Given the description of an element on the screen output the (x, y) to click on. 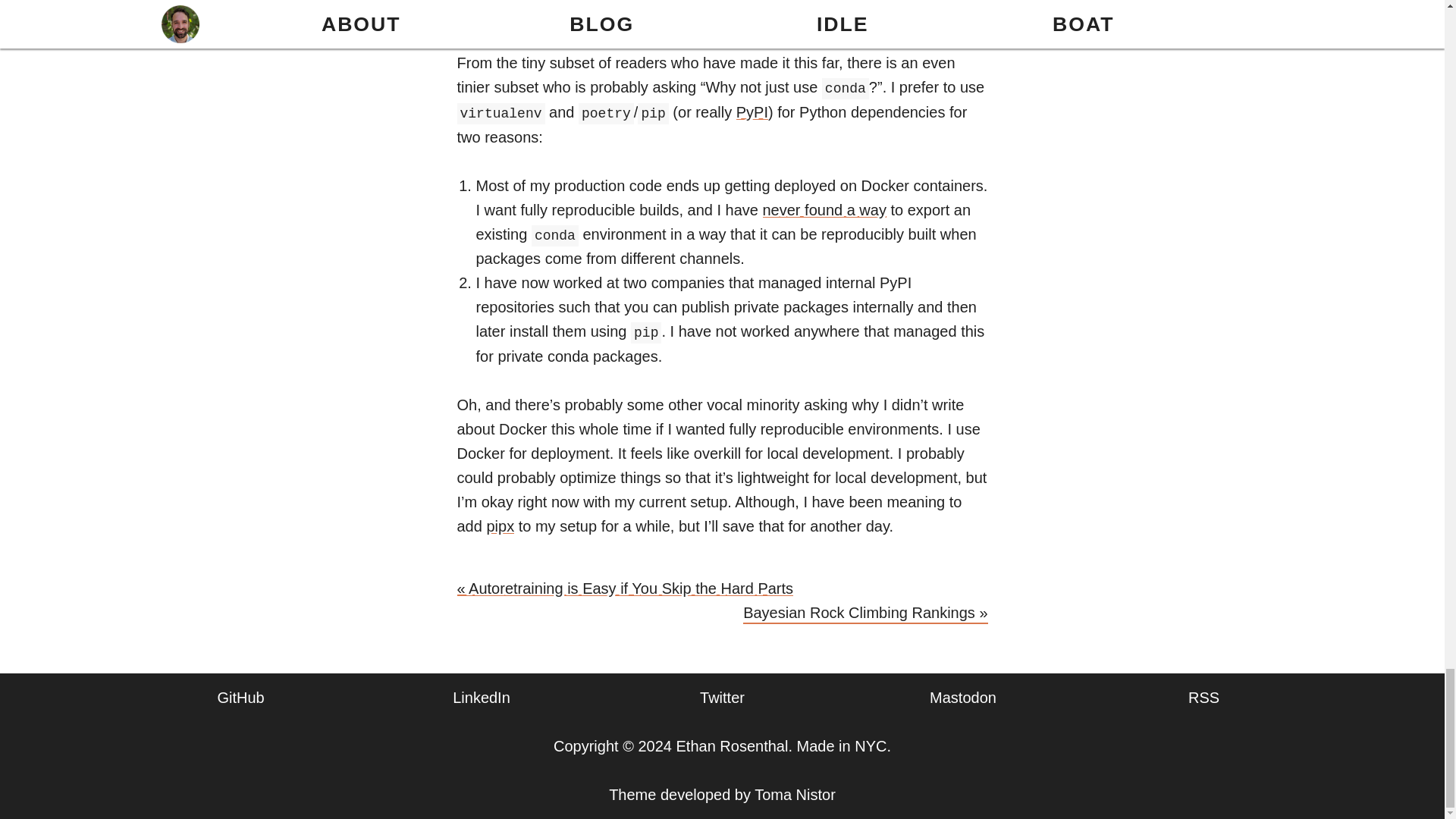
Theme developed by Toma Nistor (721, 794)
Twitter (722, 697)
pipx (499, 525)
PyPI (752, 112)
GitHub (239, 697)
Mastodon (962, 697)
RSS (1204, 697)
LinkedIn (481, 697)
never found a way (824, 209)
